Given the description of an element on the screen output the (x, y) to click on. 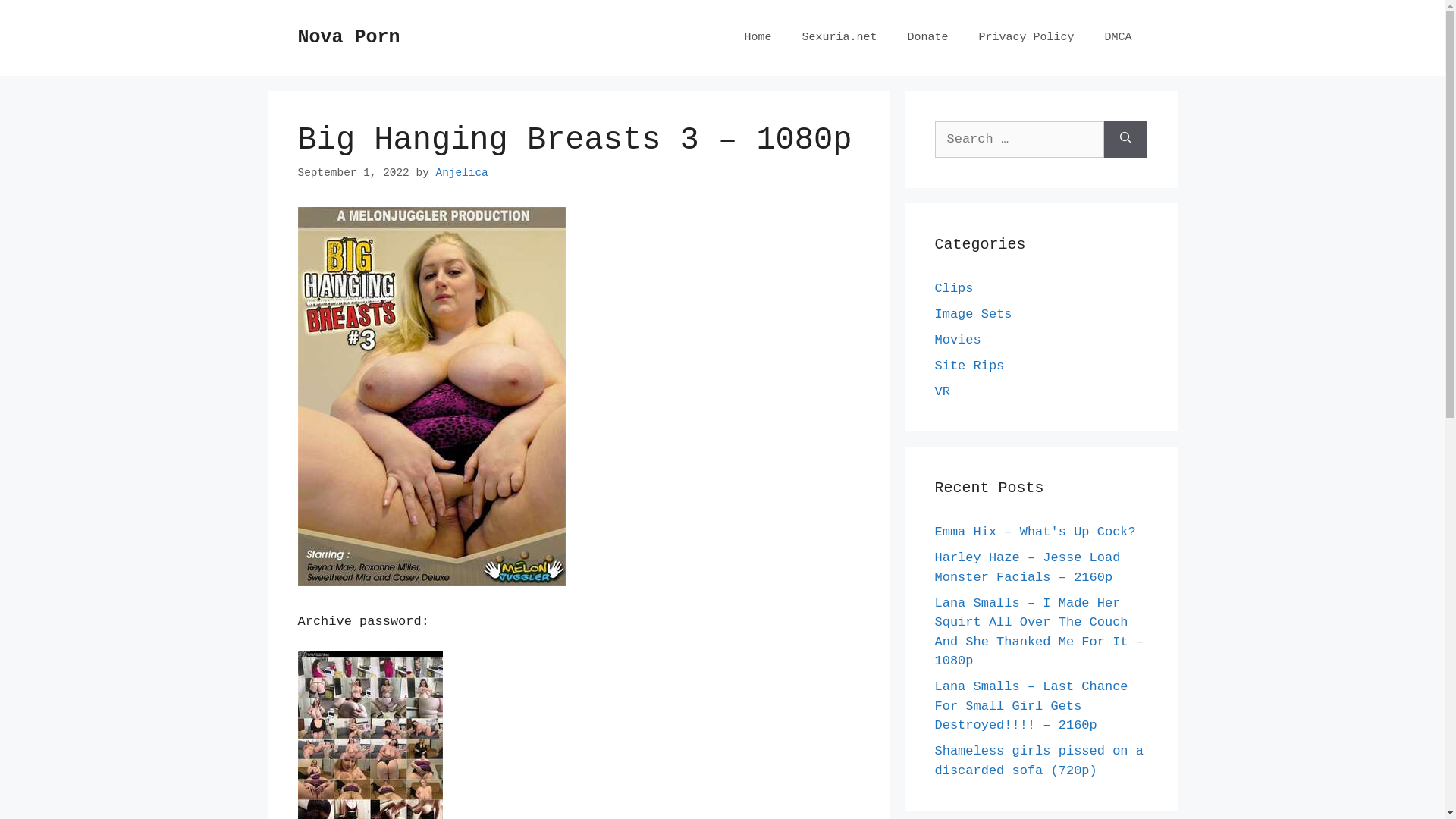
Nova Porn Element type: text (348, 37)
Sexuria.net Element type: text (838, 37)
Image Sets Element type: text (972, 313)
Site Rips Element type: text (969, 364)
Clips Element type: text (953, 287)
VR Element type: text (941, 390)
Search for: Element type: hover (1018, 139)
Shameless girls pissed on a discarded sofa (720p) Element type: text (1038, 760)
DMCA Element type: text (1117, 37)
Home Element type: text (757, 37)
Anjelica Element type: text (461, 172)
Movies Element type: text (957, 339)
Donate Element type: text (927, 37)
Privacy Policy Element type: text (1025, 37)
